Given the description of an element on the screen output the (x, y) to click on. 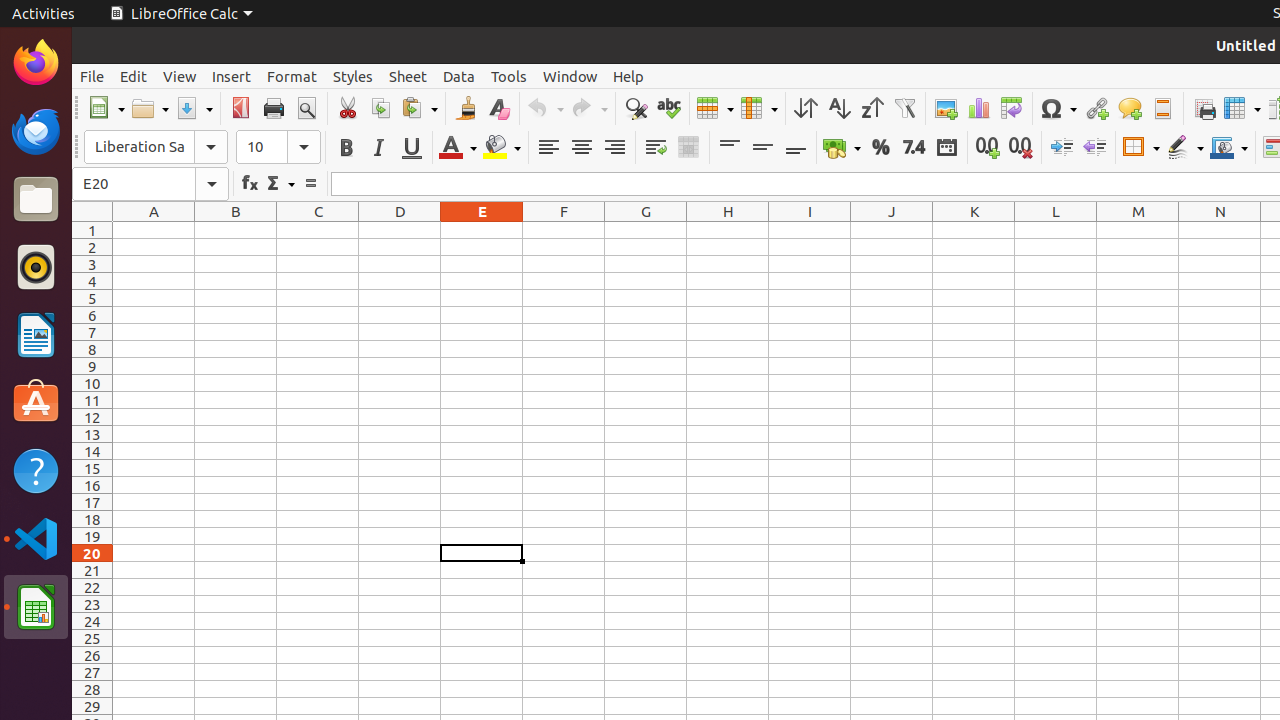
Freeze Rows and Columns Element type: push-button (1242, 108)
I1 Element type: table-cell (810, 230)
K1 Element type: table-cell (974, 230)
J1 Element type: table-cell (892, 230)
